Given the description of an element on the screen output the (x, y) to click on. 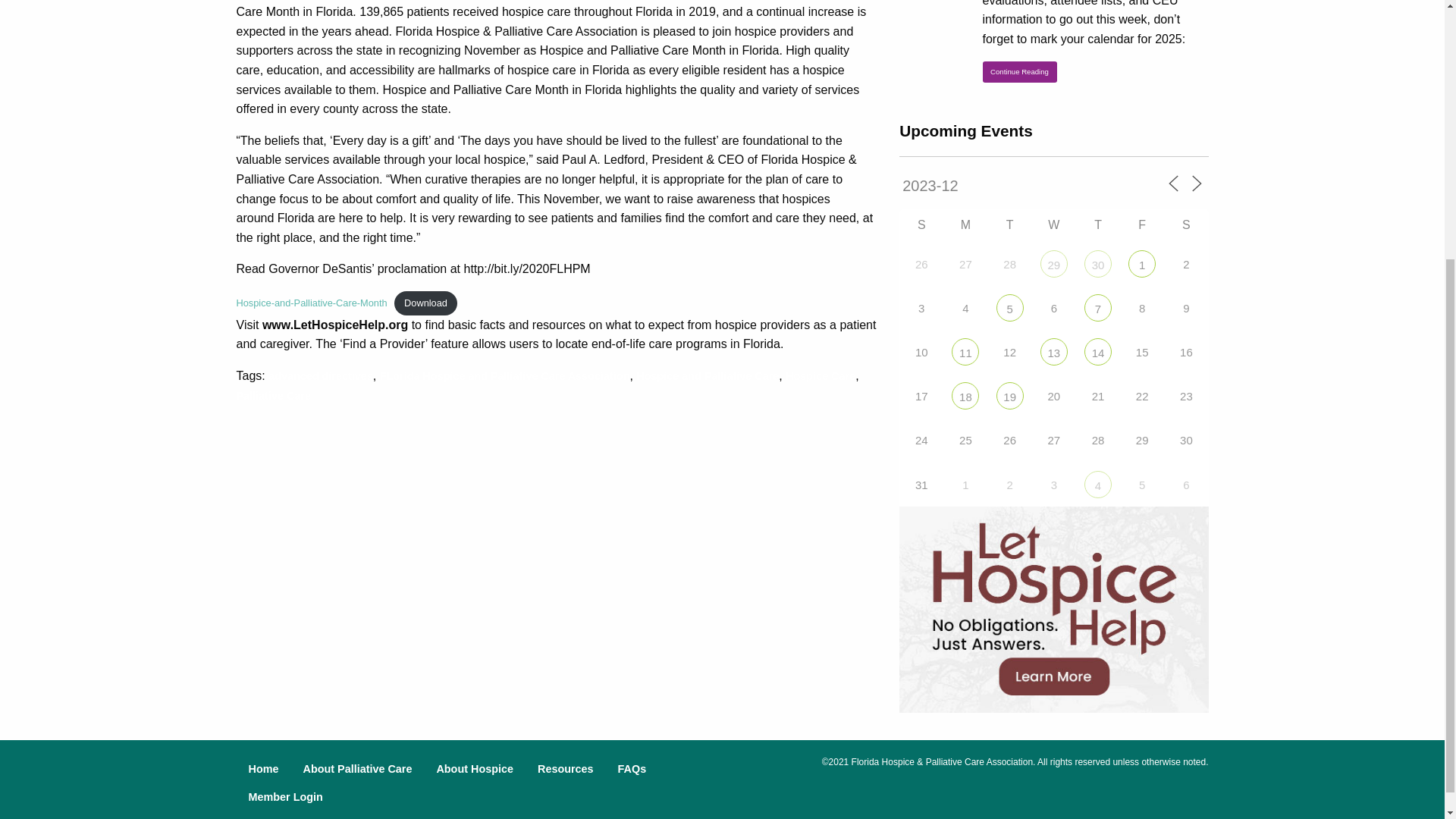
Hospice Medical Review in a Medicare-Certified World (1009, 307)
2023-12 (976, 185)
Everything New Owners Need to Know When Purchasing an Agency (1141, 263)
11 Tools to Build Up Your Hospital-Based Business (1053, 263)
Avoiding the Top 10 Hospice Compliance Mistakes (1009, 395)
